Given the description of an element on the screen output the (x, y) to click on. 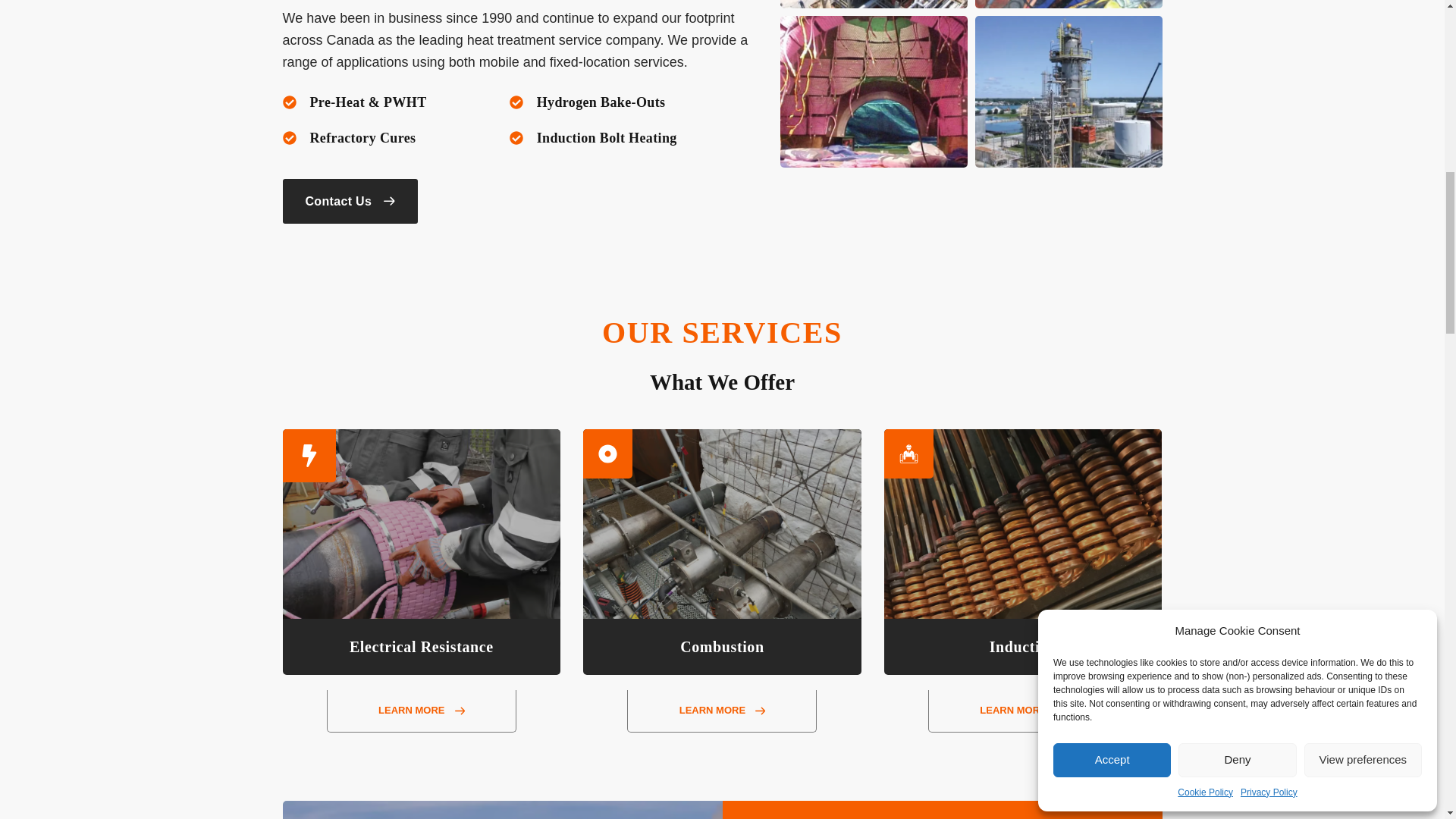
leading4-640x427-4 (872, 91)
leading2-640x427-3 (1068, 91)
leading1-640x427-1 (1068, 4)
Scroll back to top (1422, 735)
